Given the description of an element on the screen output the (x, y) to click on. 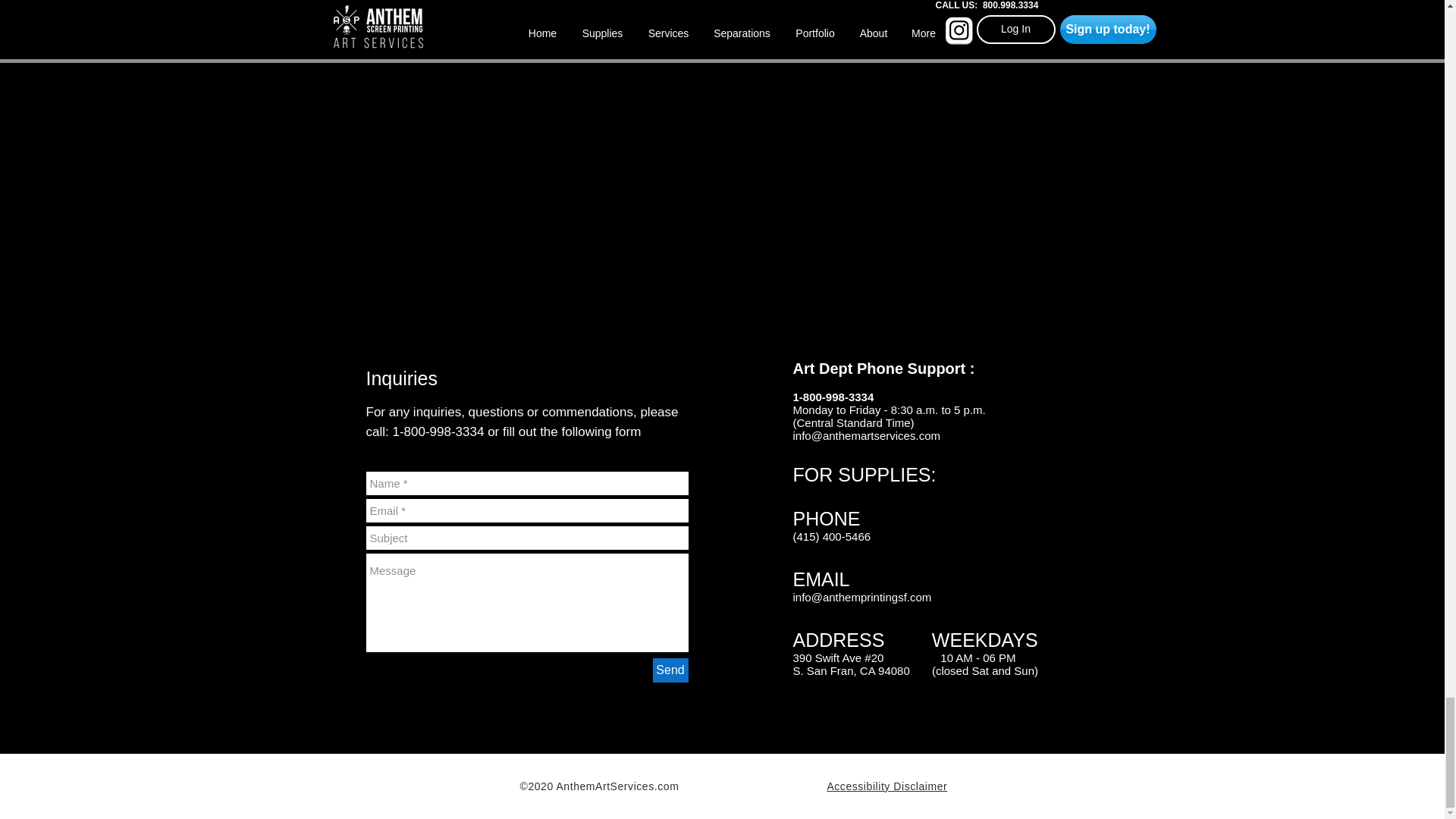
Send (669, 670)
                 10 AM - 06 PM (948, 657)
Accessibility Disclaimer (887, 786)
